Given the description of an element on the screen output the (x, y) to click on. 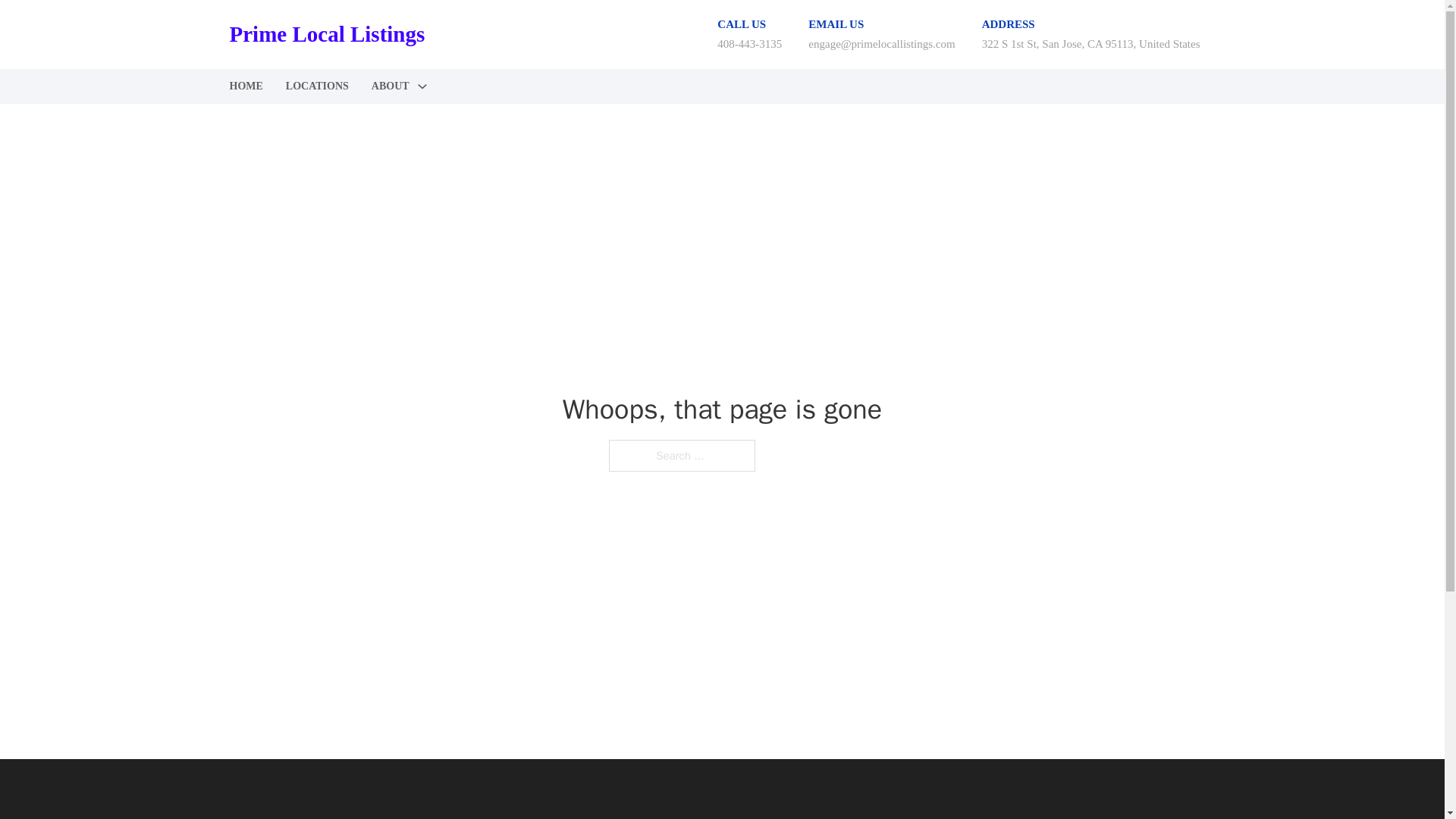
408-443-3135 (749, 43)
HOME (245, 85)
Prime Local Listings (326, 34)
LOCATIONS (317, 85)
